Given the description of an element on the screen output the (x, y) to click on. 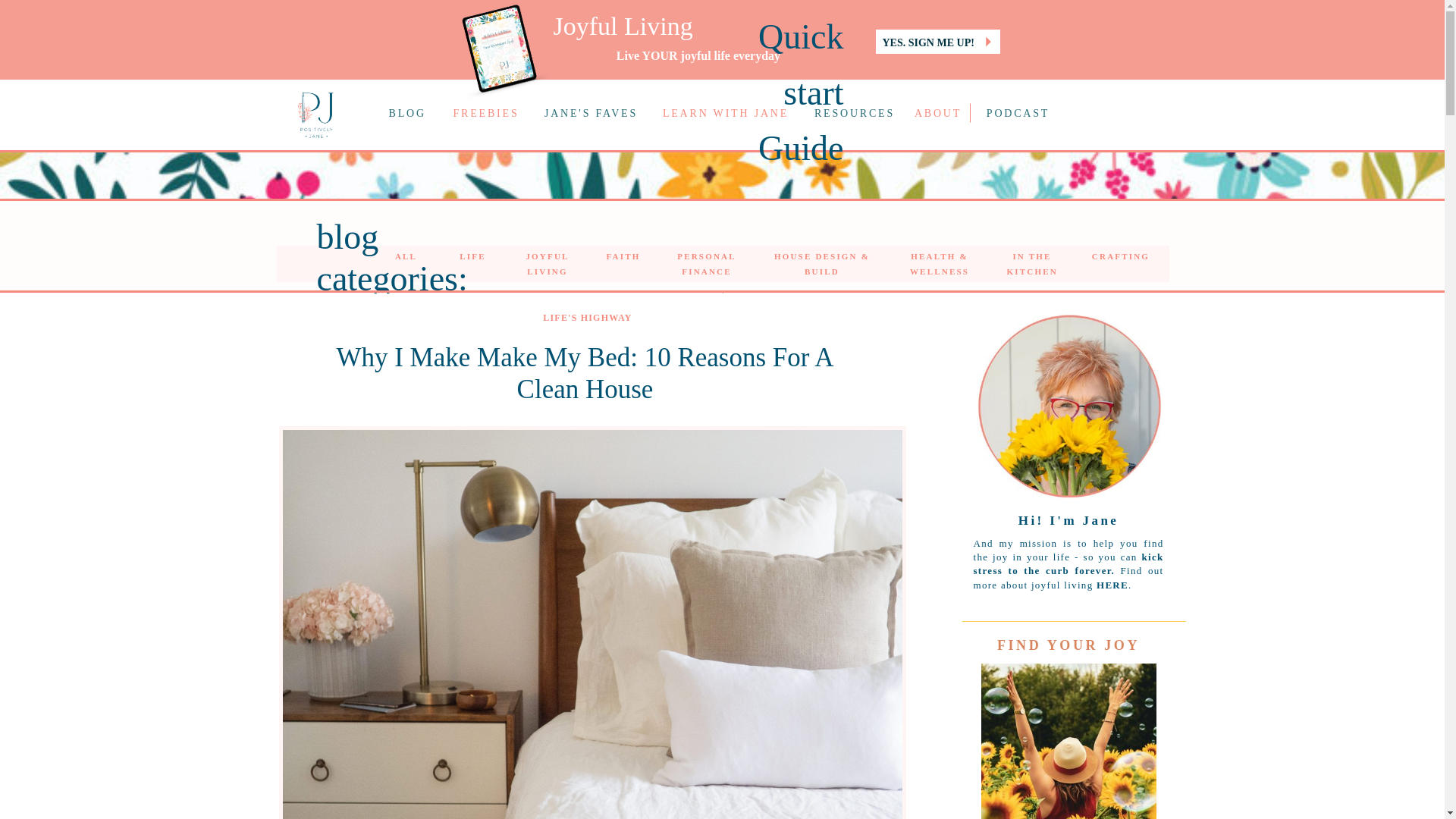
ABOUT (937, 114)
CRAFTING (1120, 256)
FAITH (622, 256)
LIFE (472, 256)
BLOG (406, 114)
LIFE'S HIGHWAY (587, 317)
JANE'S FAVES (590, 114)
RESOURCES (854, 114)
JOYFUL LIVING (547, 256)
YES. SIGN ME UP! (935, 41)
PERSONAL FINANCE (707, 256)
FREEBIES (485, 114)
IN THE KITCHEN (1032, 256)
PODCAST (1017, 114)
